Given the description of an element on the screen output the (x, y) to click on. 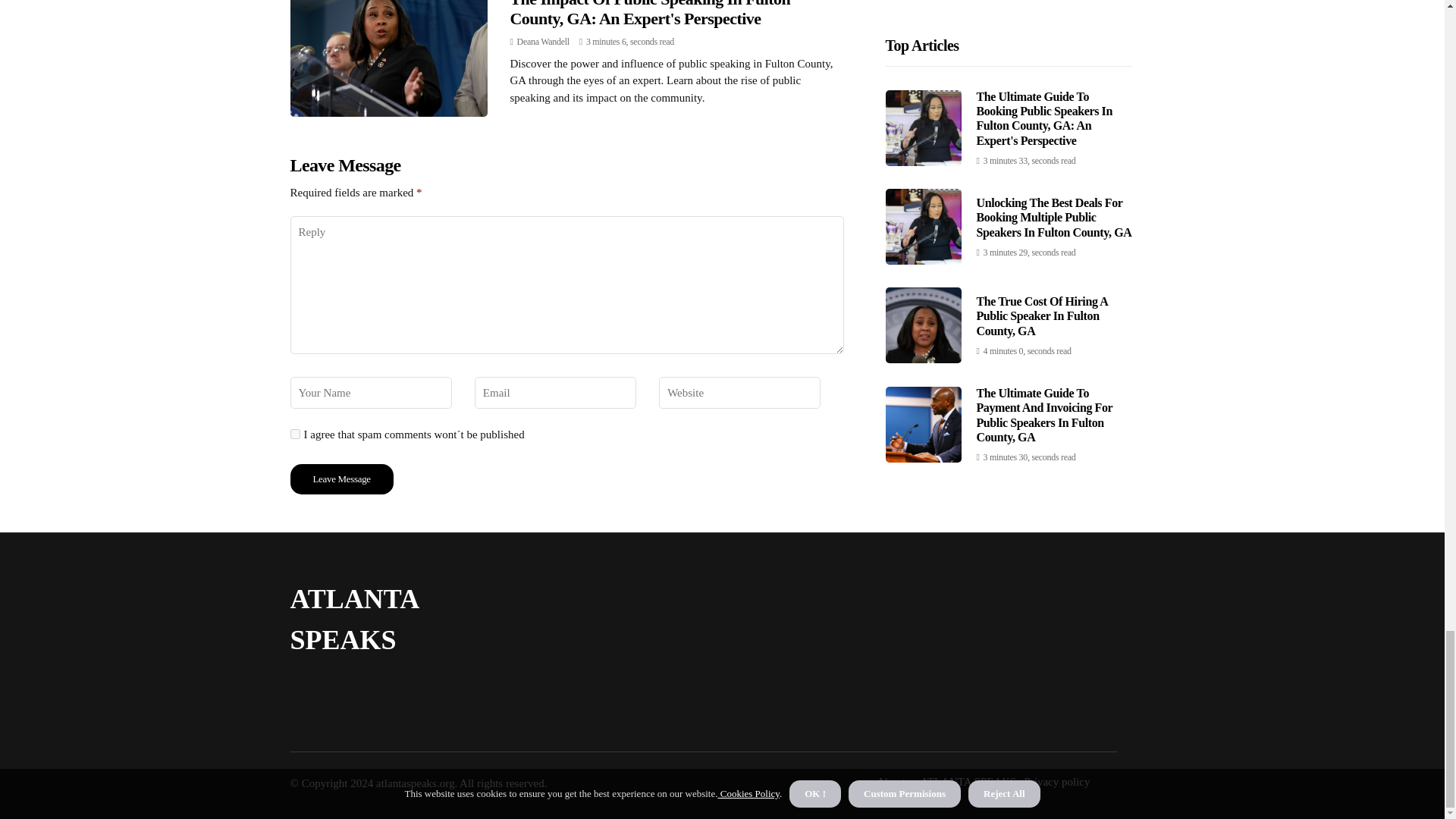
Deana Wandell (542, 41)
Leave Message (341, 479)
yes (294, 433)
Posts by Deana Wandell (542, 41)
Leave Message (341, 479)
